Given the description of an element on the screen output the (x, y) to click on. 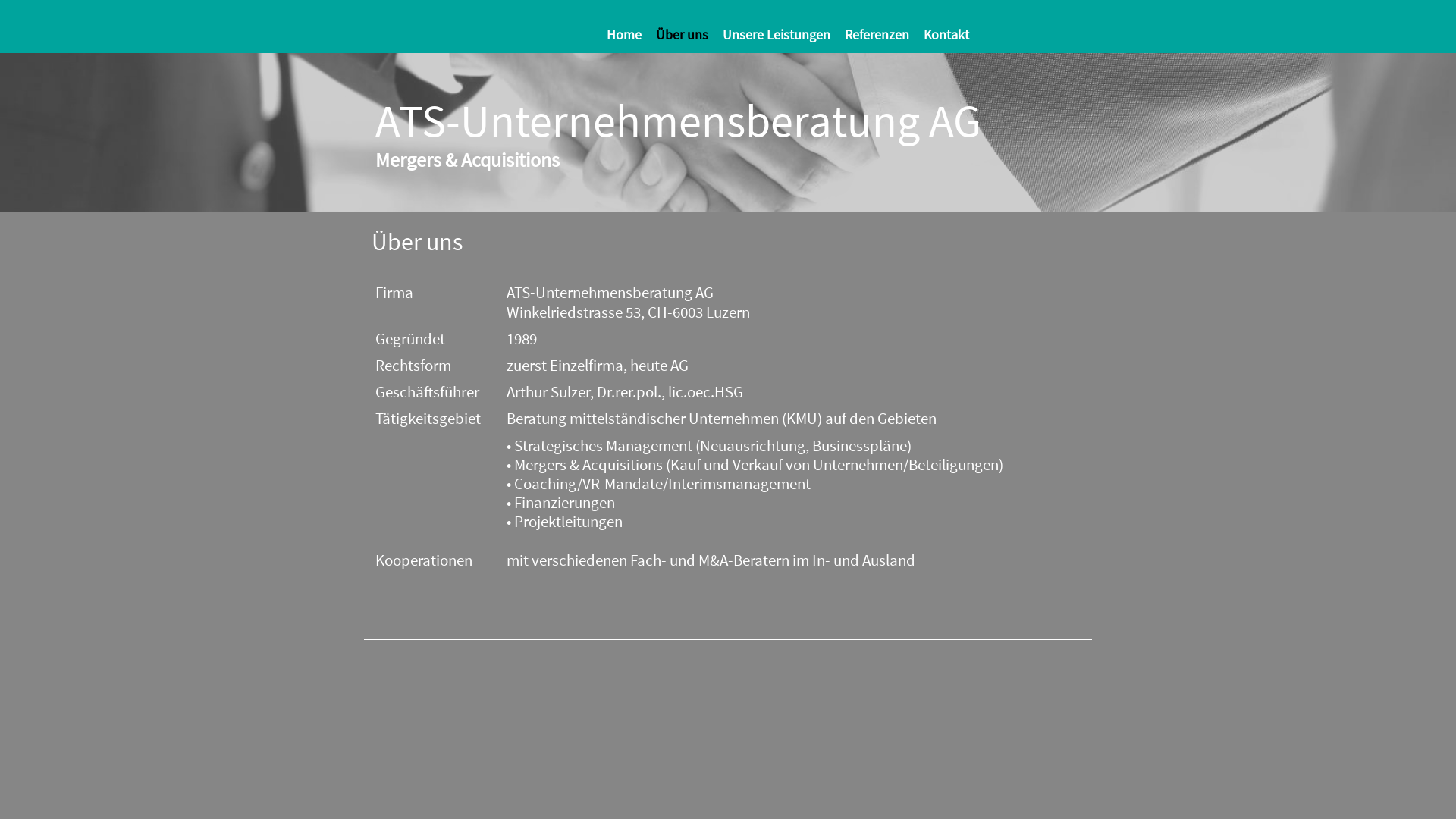
Referenzen Element type: text (882, 34)
Home Element type: text (629, 34)
Kontakt Element type: text (951, 34)
Unsere Leistungen Element type: text (781, 34)
